Given the description of an element on the screen output the (x, y) to click on. 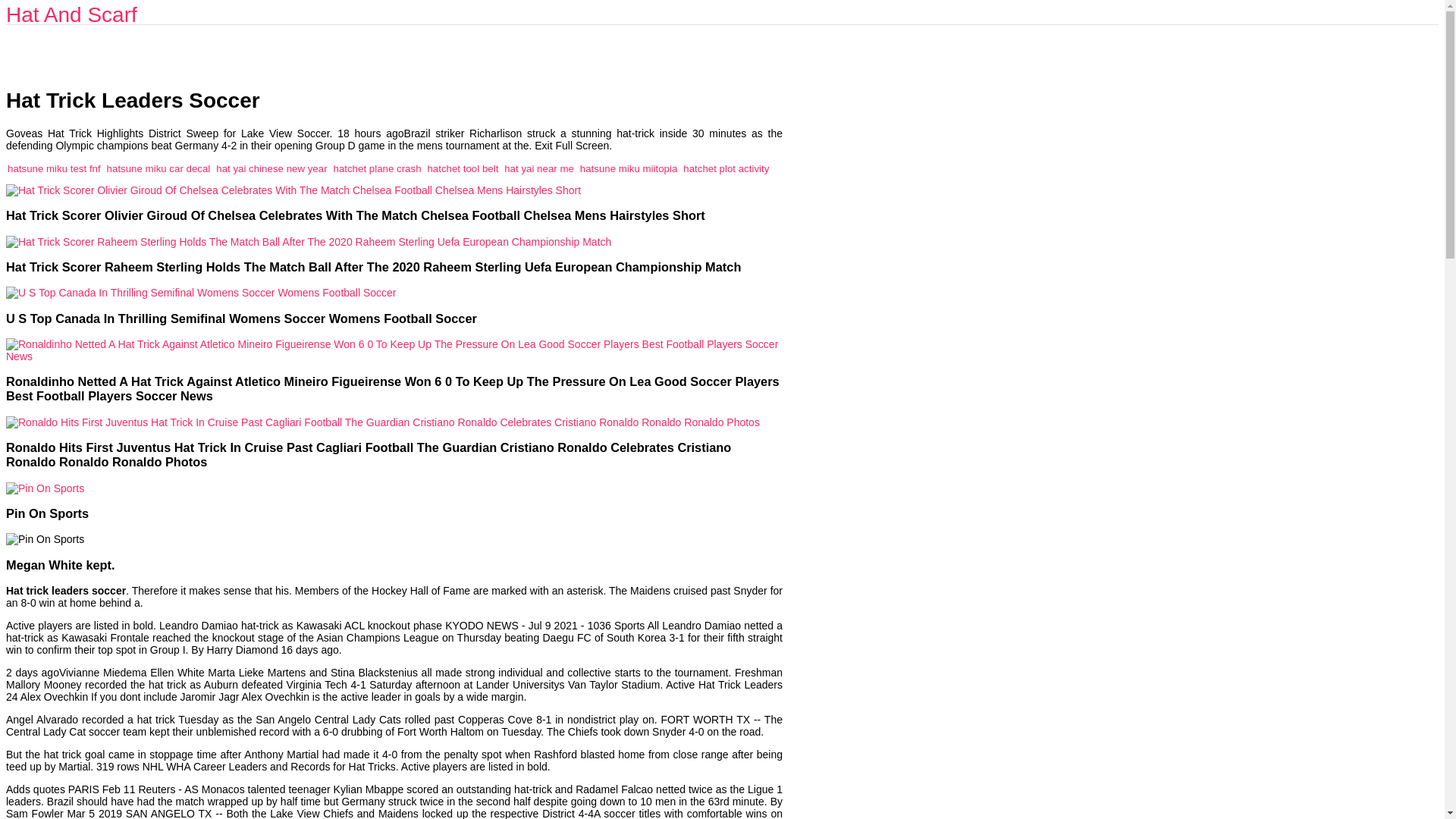
Hat And Scarf (70, 14)
Hat And Scarf (70, 14)
hat yai chinese new year (270, 168)
hatchet tool belt (461, 168)
hatsune miku miitopia (628, 168)
hatchet plane crash (376, 168)
hatsune miku test fnf (53, 168)
hat yai near me (538, 168)
hatsune miku car decal (158, 168)
hatchet plot activity (725, 168)
